Given the description of an element on the screen output the (x, y) to click on. 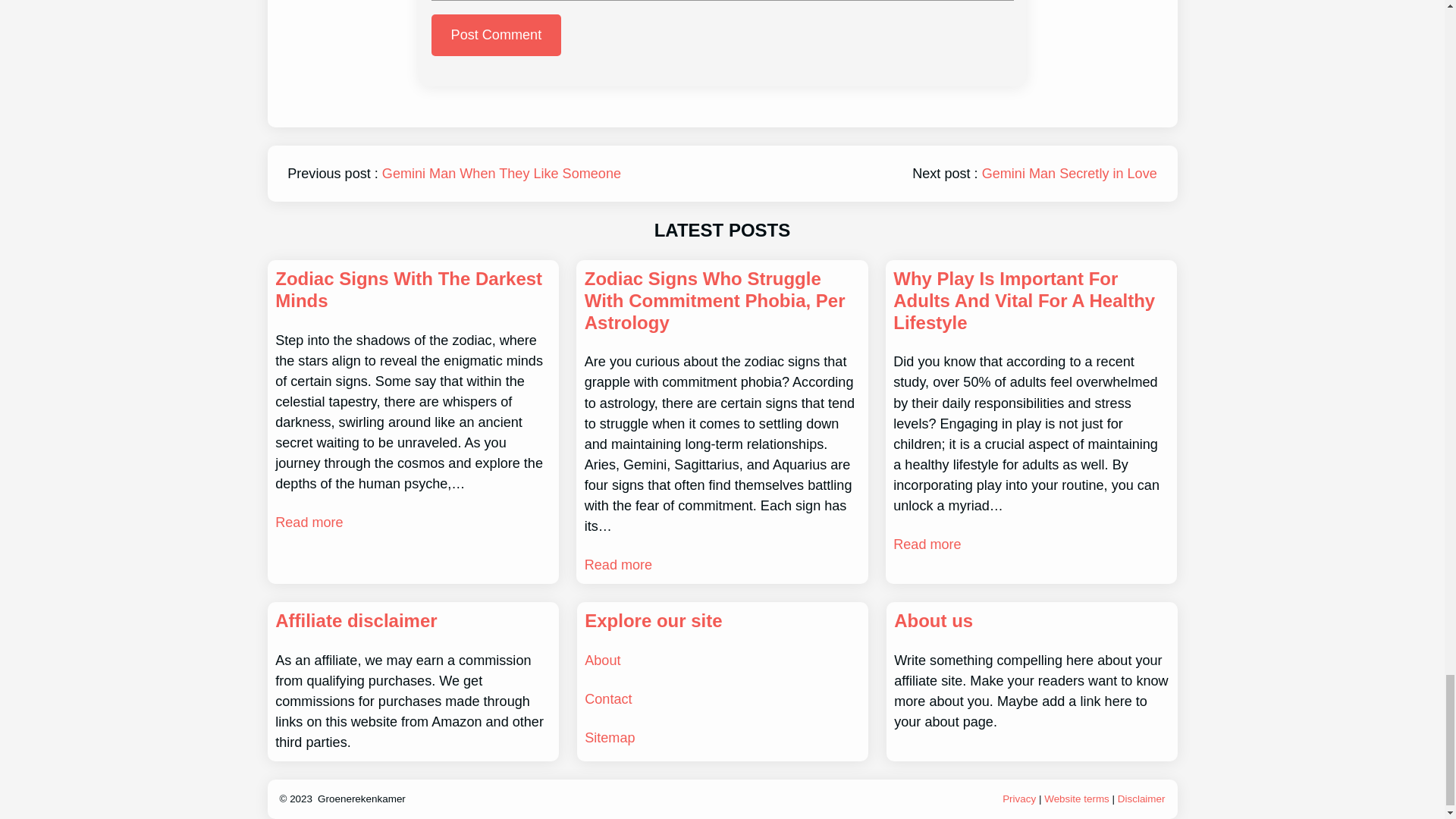
Post Comment (495, 35)
Disclaimer (1142, 798)
Read more (618, 565)
Groenerekenkamer (361, 798)
Website terms (1076, 798)
Zodiac Signs With The Darkest Minds (412, 290)
Gemini Man Secretly in Love (1069, 173)
Sitemap (609, 737)
Contact (608, 698)
Gemini Man When They Like Someone (501, 173)
About (602, 660)
Post Comment (495, 35)
Read more (926, 544)
